Given the description of an element on the screen output the (x, y) to click on. 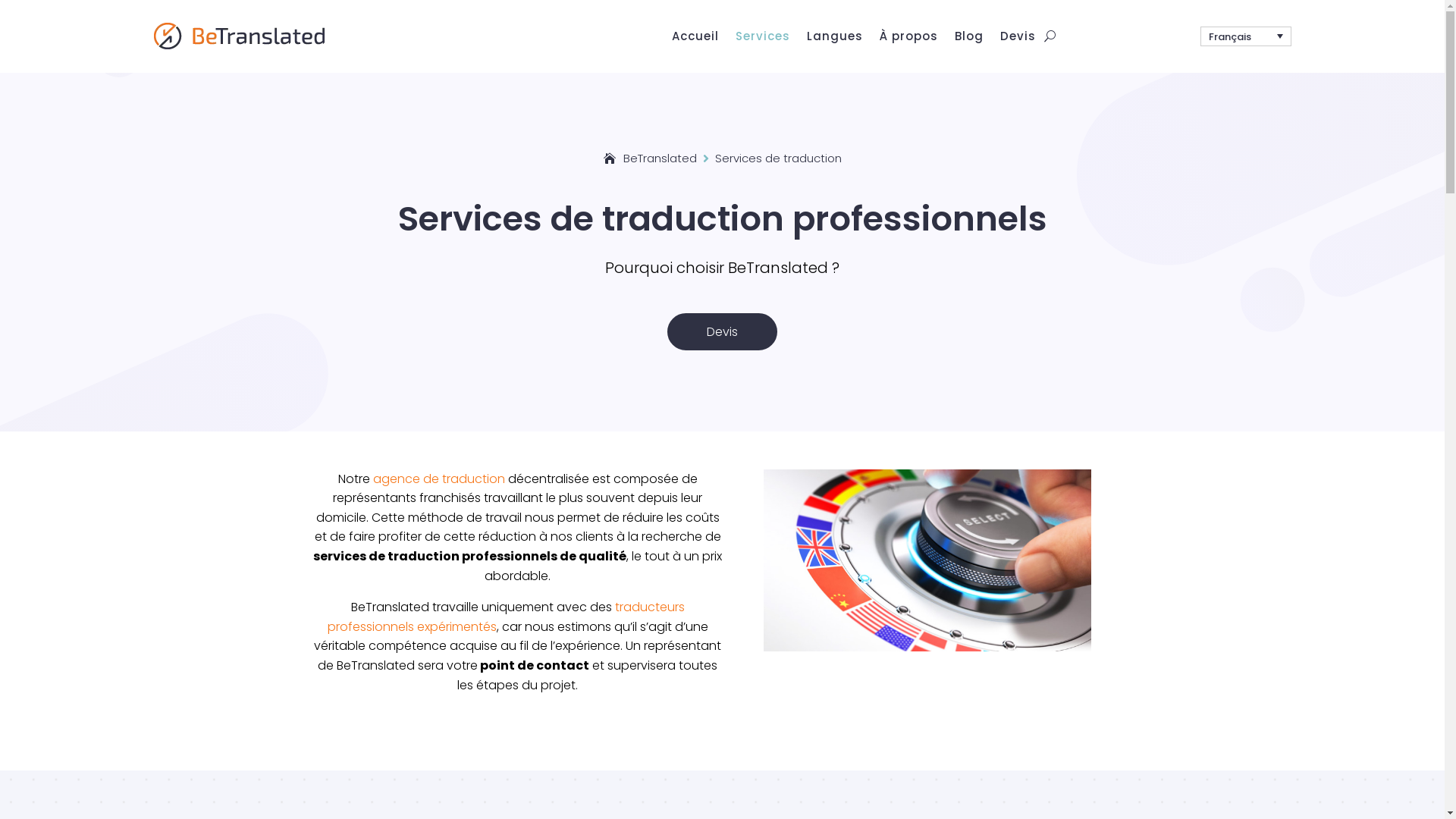
Langues Element type: text (834, 39)
Devis Element type: text (1017, 39)
Blog Element type: text (967, 39)
BeTranslated Element type: text (649, 158)
agence de traduction Element type: text (439, 478)
BeTranslated Element type: hover (238, 35)
Pourquoi-choisir-BeTranslated Element type: hover (926, 560)
Devis Element type: text (722, 330)
Services Element type: text (762, 39)
Accueil Element type: text (694, 39)
